Given the description of an element on the screen output the (x, y) to click on. 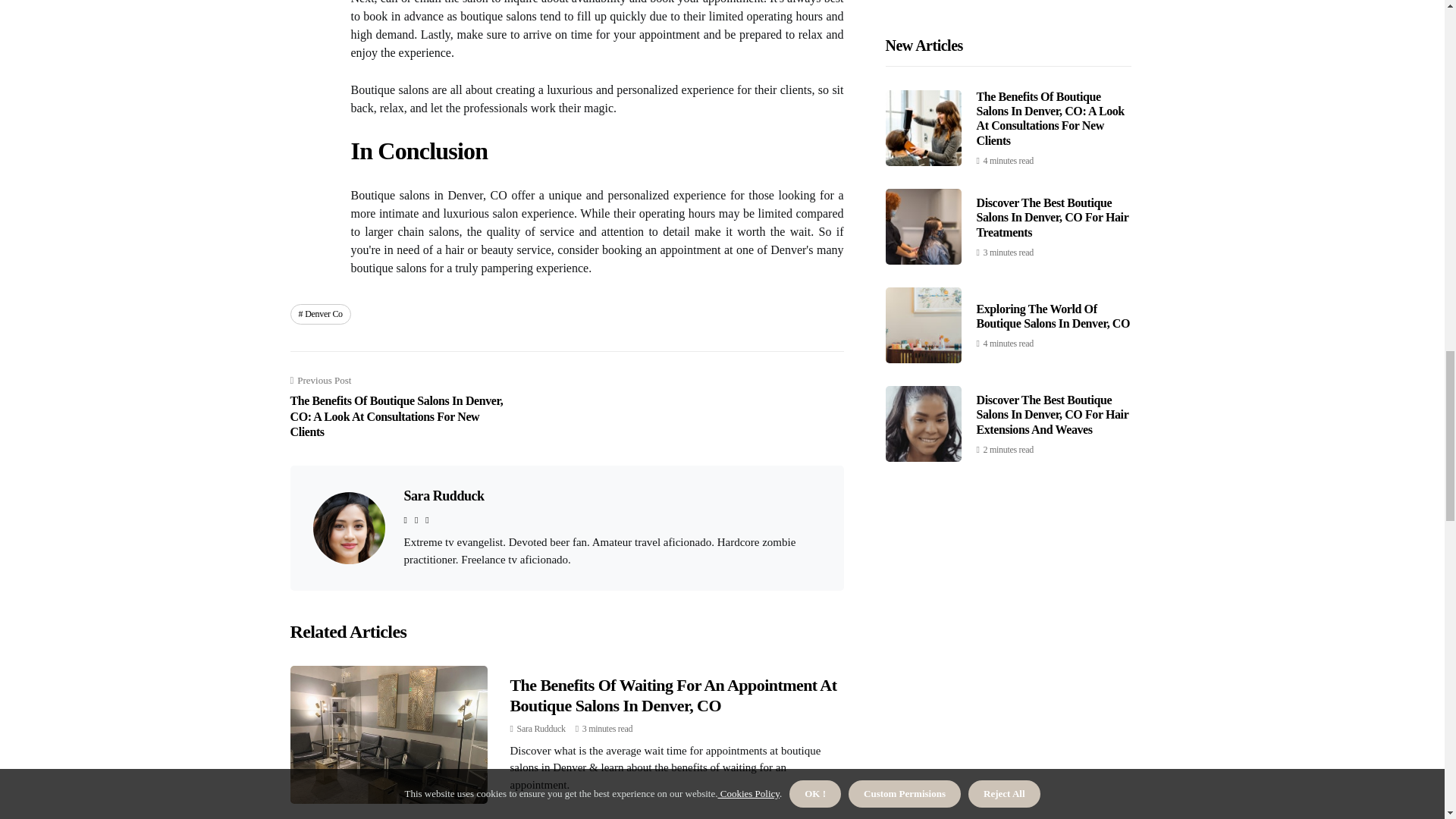
Posts by Sara Rudduck (541, 728)
Denver Co (319, 313)
Sara Rudduck (541, 728)
Sara Rudduck (443, 495)
